Given the description of an element on the screen output the (x, y) to click on. 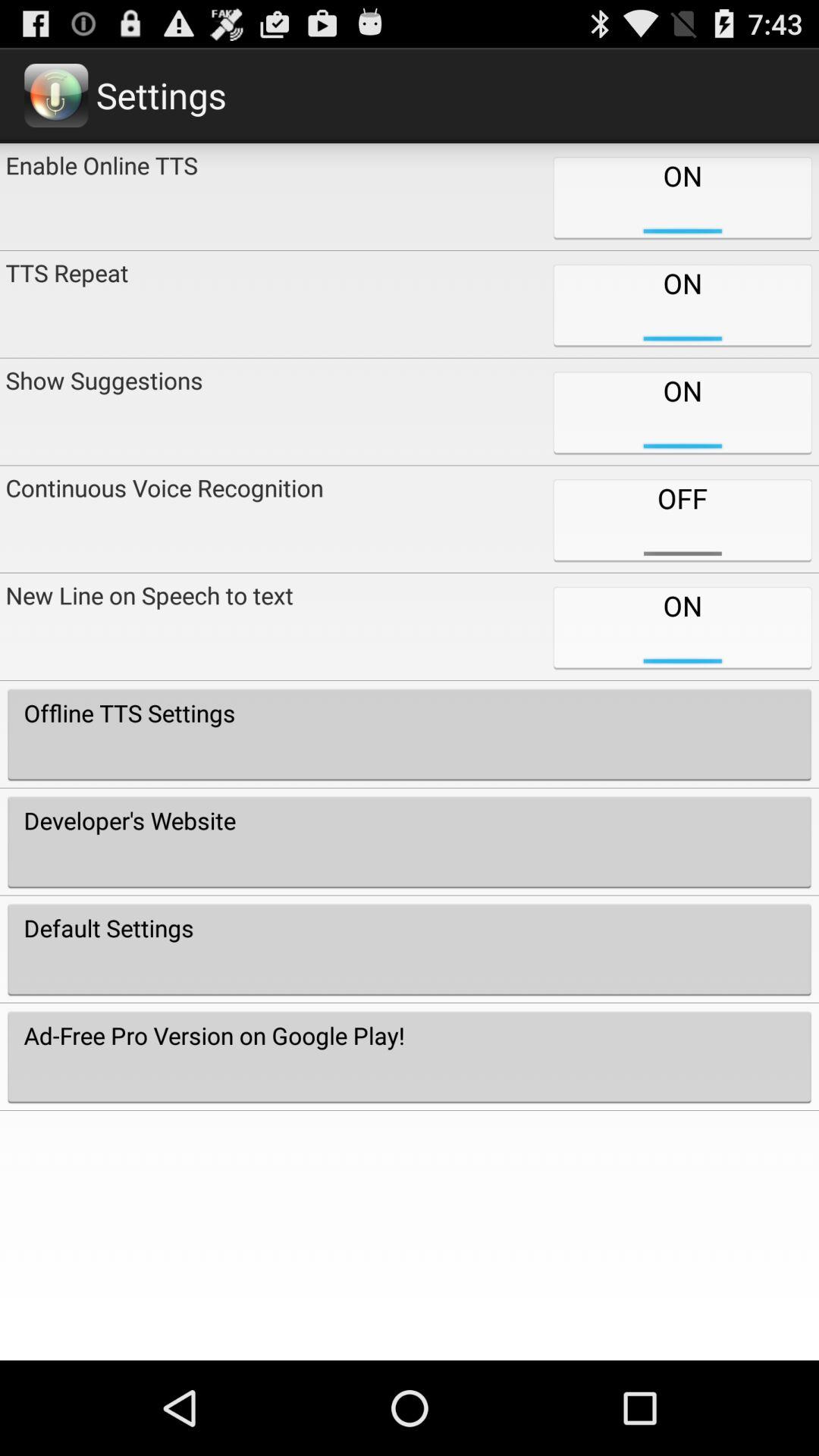
select item next to the show suggestions icon (682, 519)
